Given the description of an element on the screen output the (x, y) to click on. 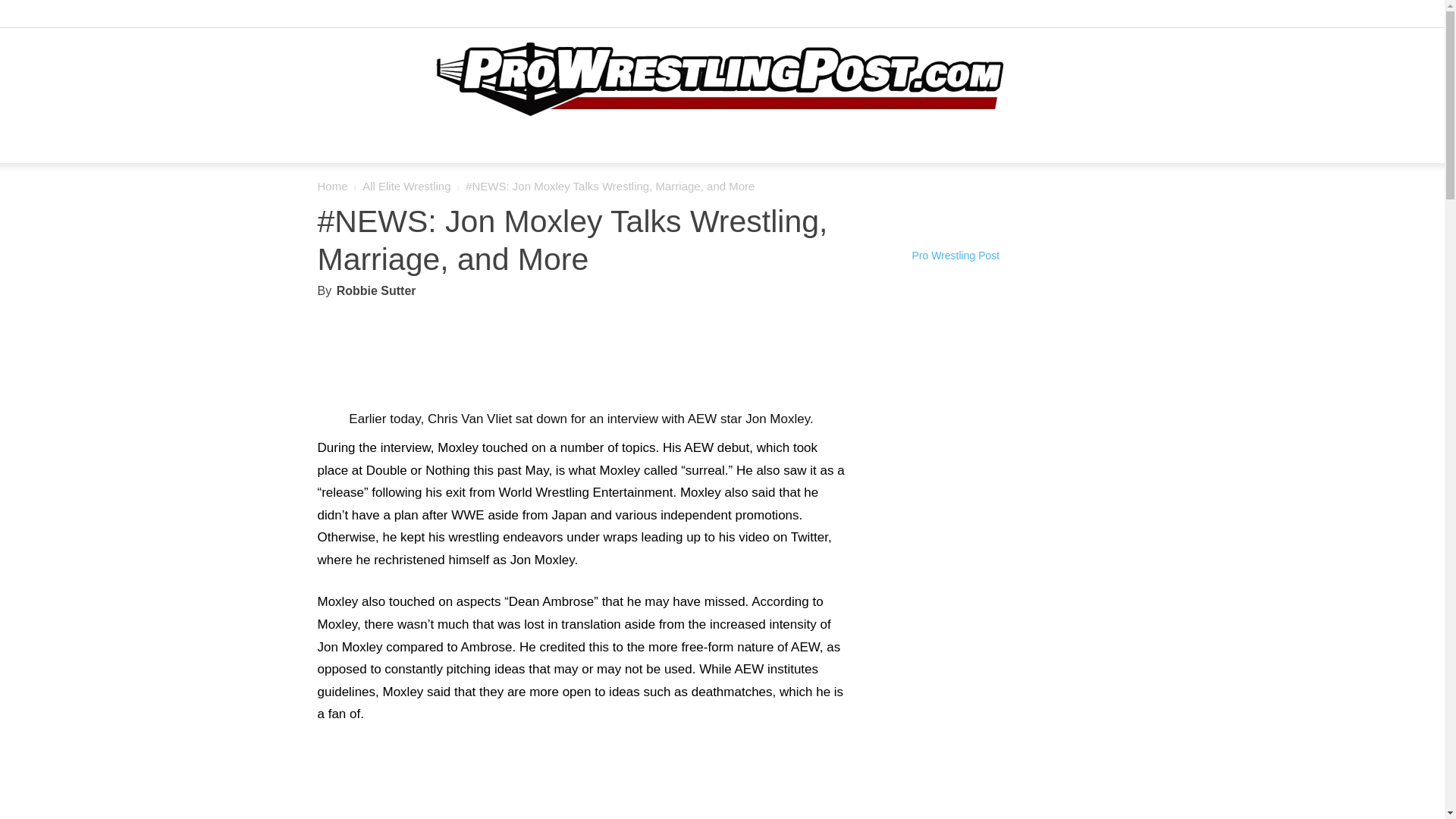
View all posts in All Elite Wrestling (405, 185)
Youtube (1165, 16)
Facebook (1090, 16)
Instagram (1114, 16)
Twitter (1140, 16)
